Given the description of an element on the screen output the (x, y) to click on. 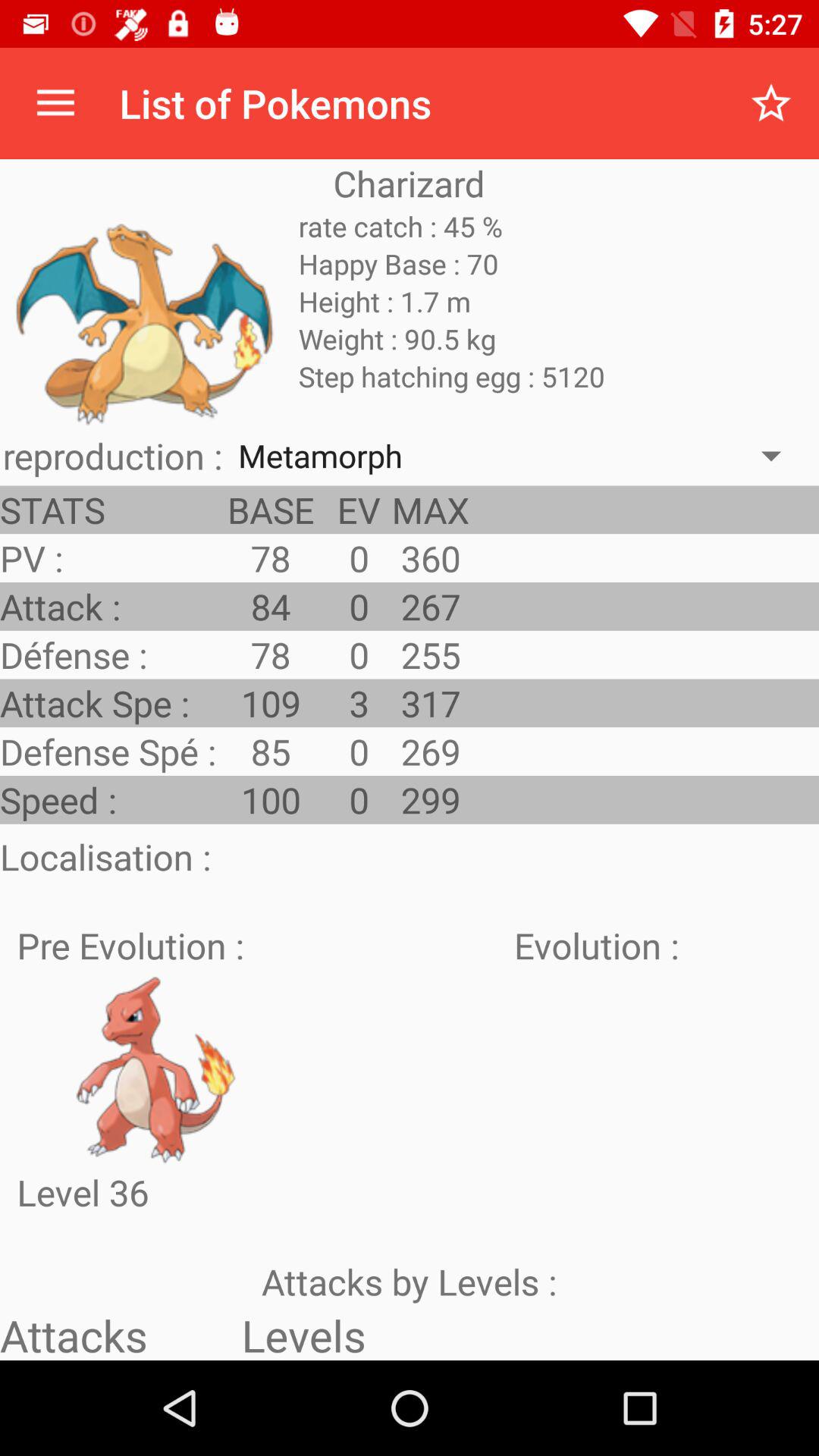
content picture (155, 1068)
